Given the description of an element on the screen output the (x, y) to click on. 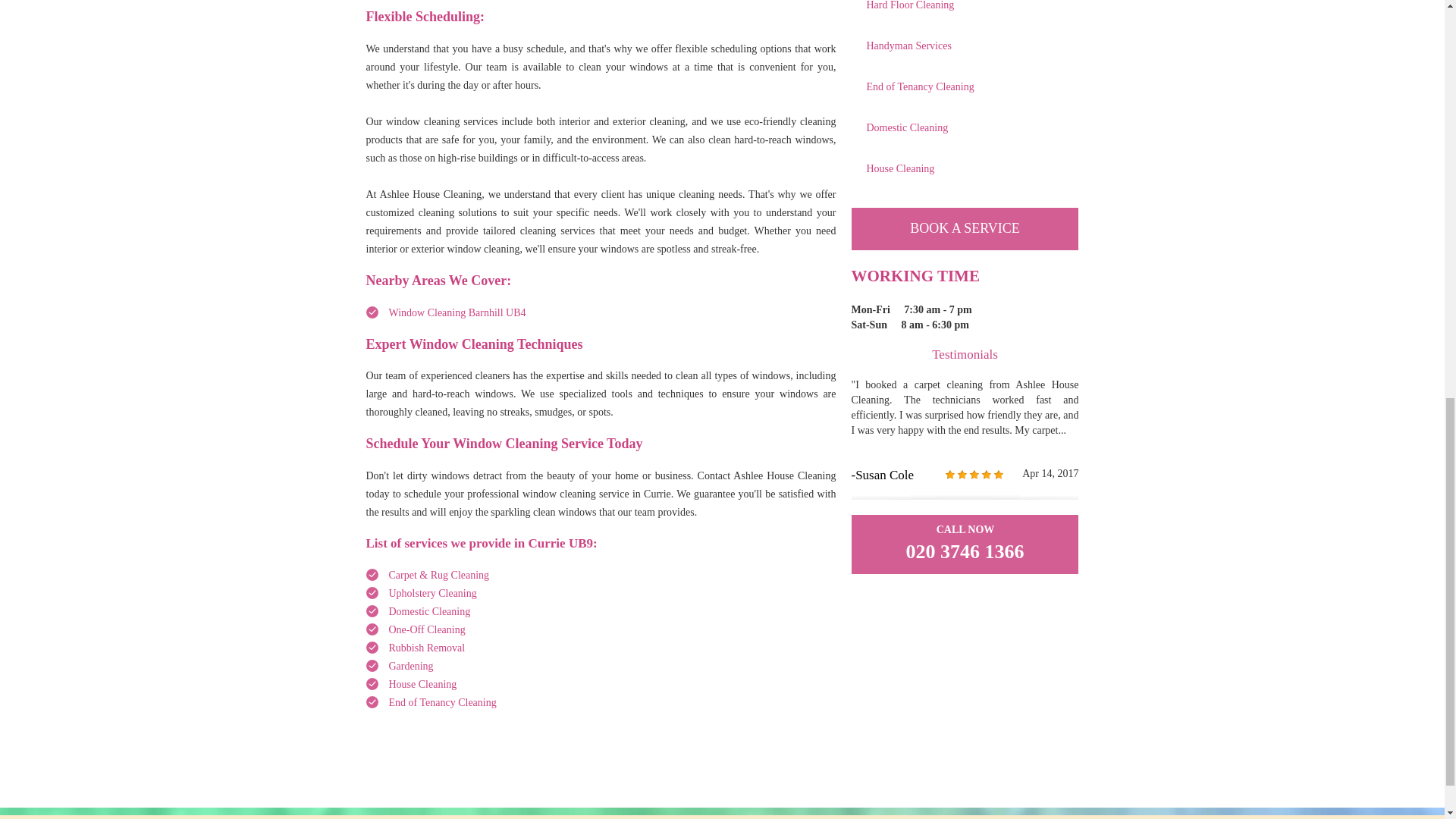
House Cleaning (422, 684)
Upholstery Cleaning (432, 593)
Domestic Cleaning (429, 611)
Rubbish Removal (426, 647)
Gardening (410, 665)
One-Off Cleaning (426, 629)
Hard Floor Cleaning (965, 10)
End of Tenancy Cleaning (442, 702)
Handyman Services (965, 46)
Window Cleaning Barnhill UB4 (456, 312)
